Given the description of an element on the screen output the (x, y) to click on. 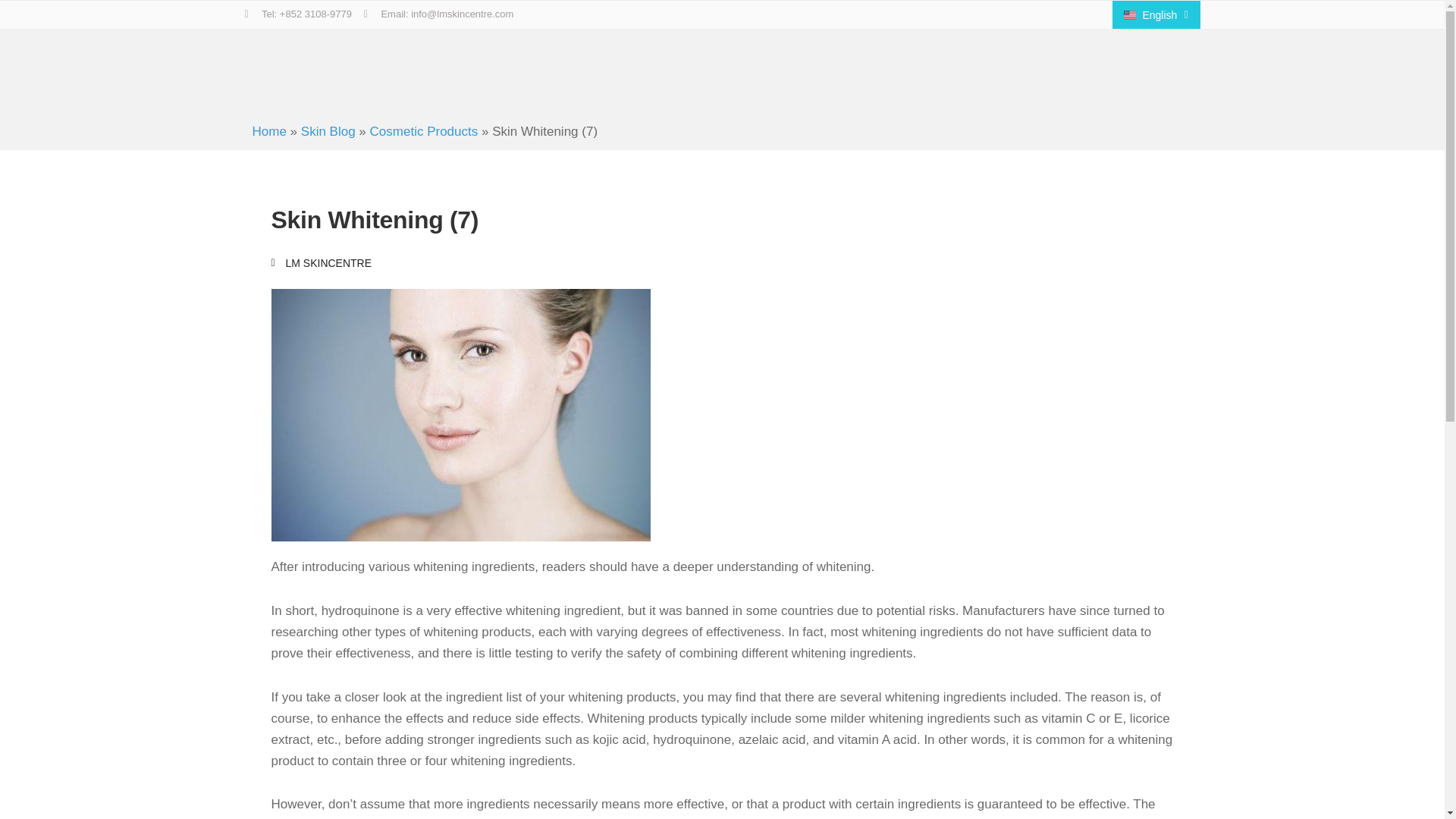
Cosmetic Products (424, 131)
Home (268, 131)
Skin Blog (328, 131)
English (1155, 14)
